Given the description of an element on the screen output the (x, y) to click on. 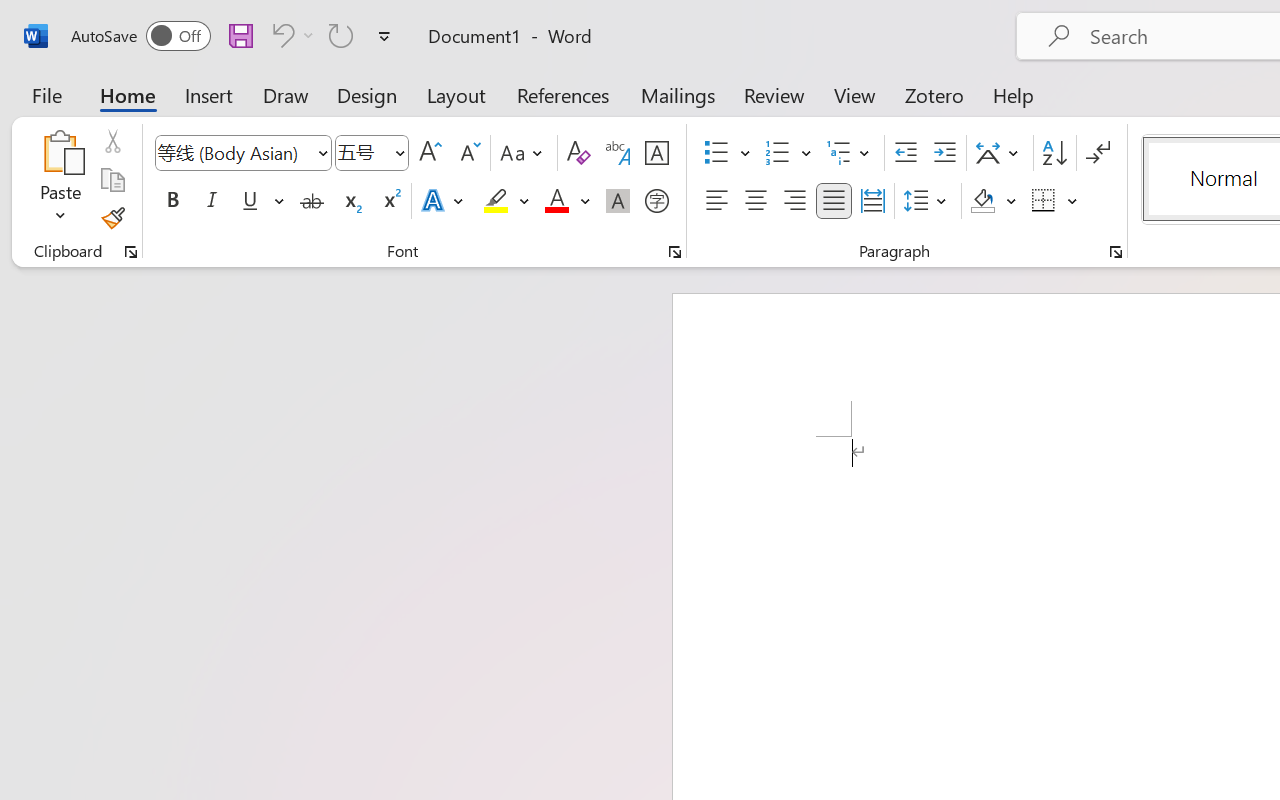
Can't Undo (280, 35)
